Given the description of an element on the screen output the (x, y) to click on. 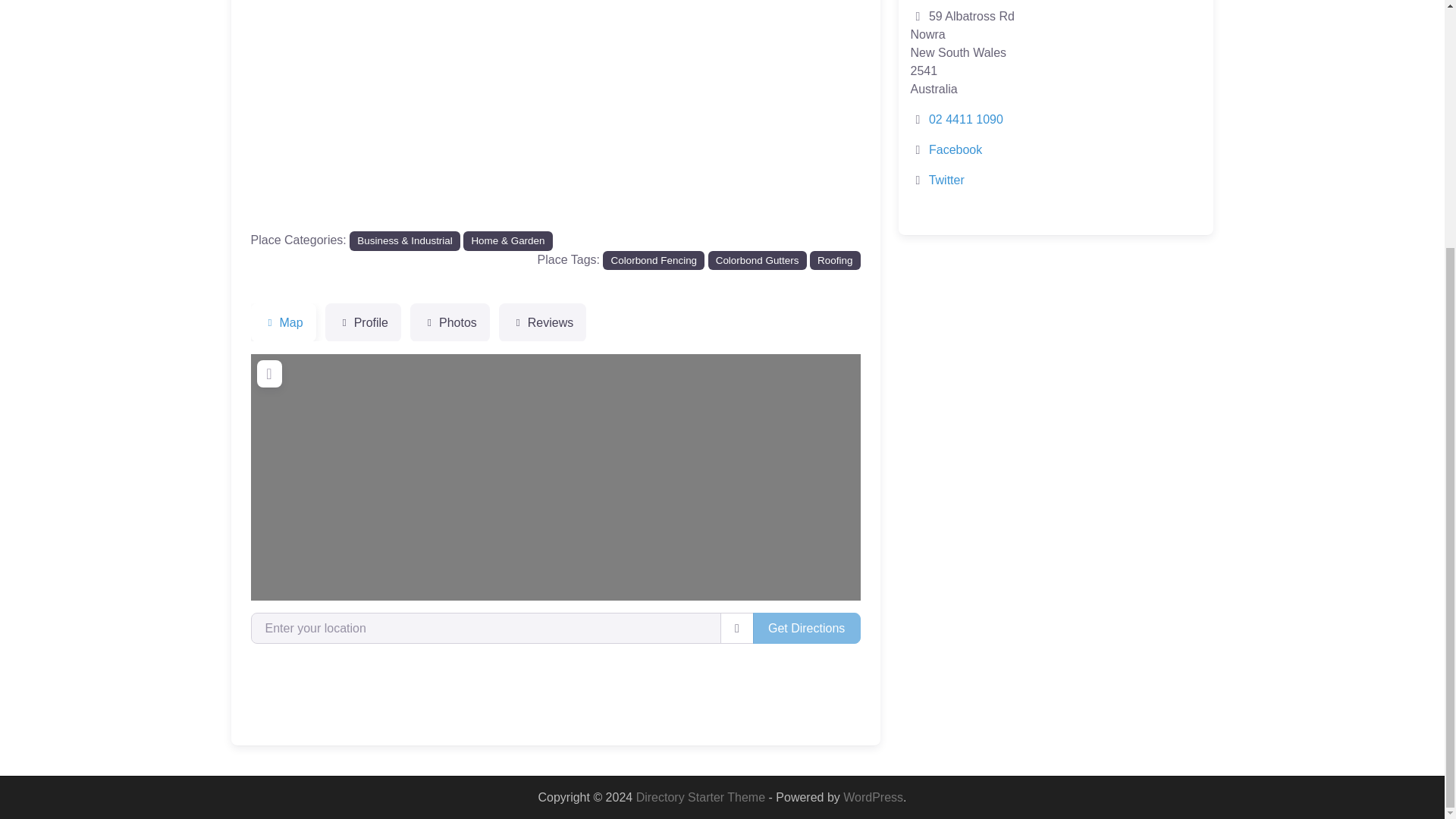
Reviews (542, 323)
Reviews (542, 323)
Facebook (954, 149)
Get Directions (806, 627)
Colorbond Fencing (653, 260)
use my location (737, 627)
02 4411 1090 (965, 119)
Photos (449, 323)
Colorbond Gutters (756, 260)
Directory Starter (702, 797)
